Given the description of an element on the screen output the (x, y) to click on. 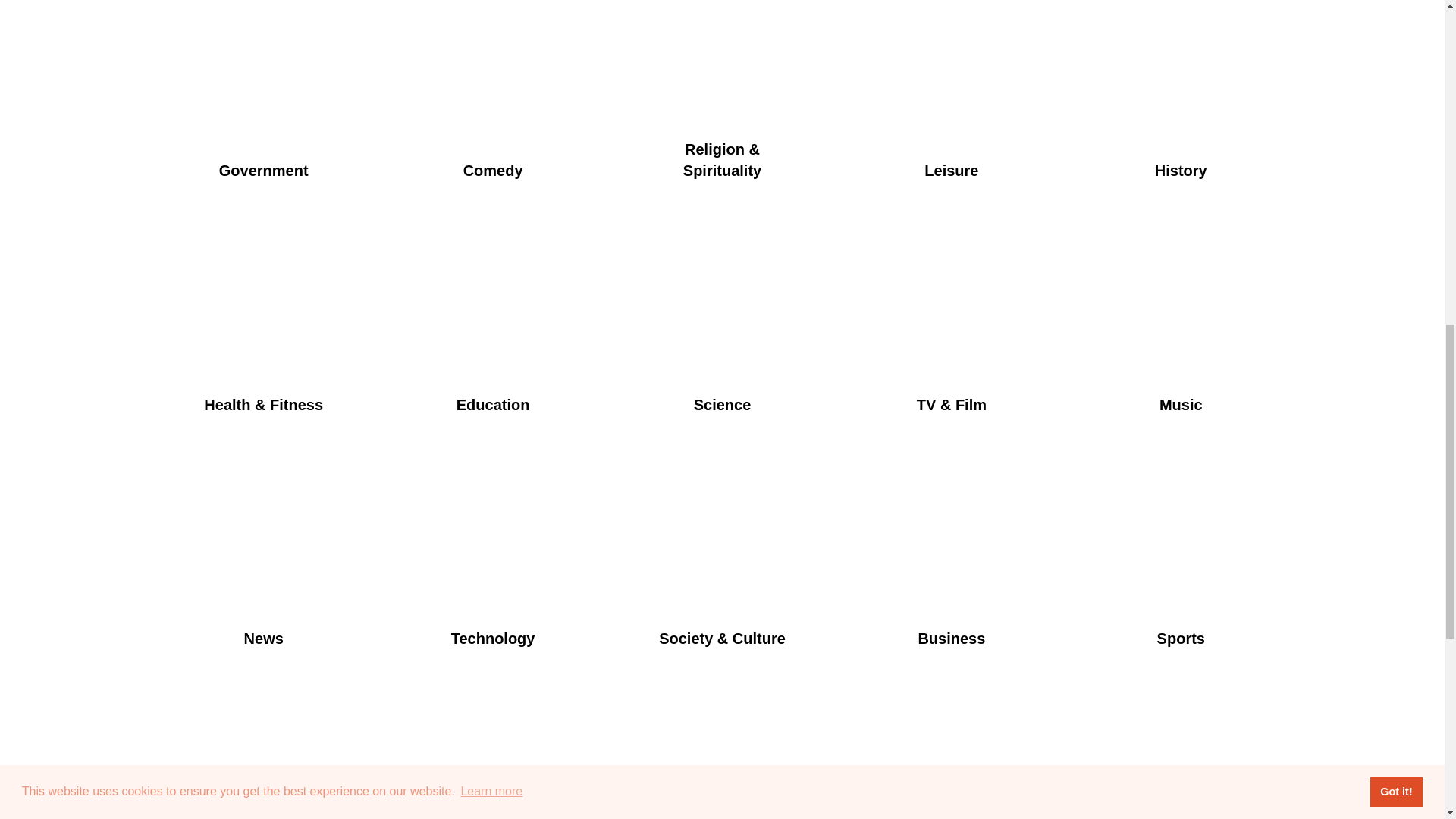
History (1180, 102)
Leisure (951, 102)
Science (722, 336)
Education (492, 336)
Government (262, 102)
Comedy (492, 102)
